Given the description of an element on the screen output the (x, y) to click on. 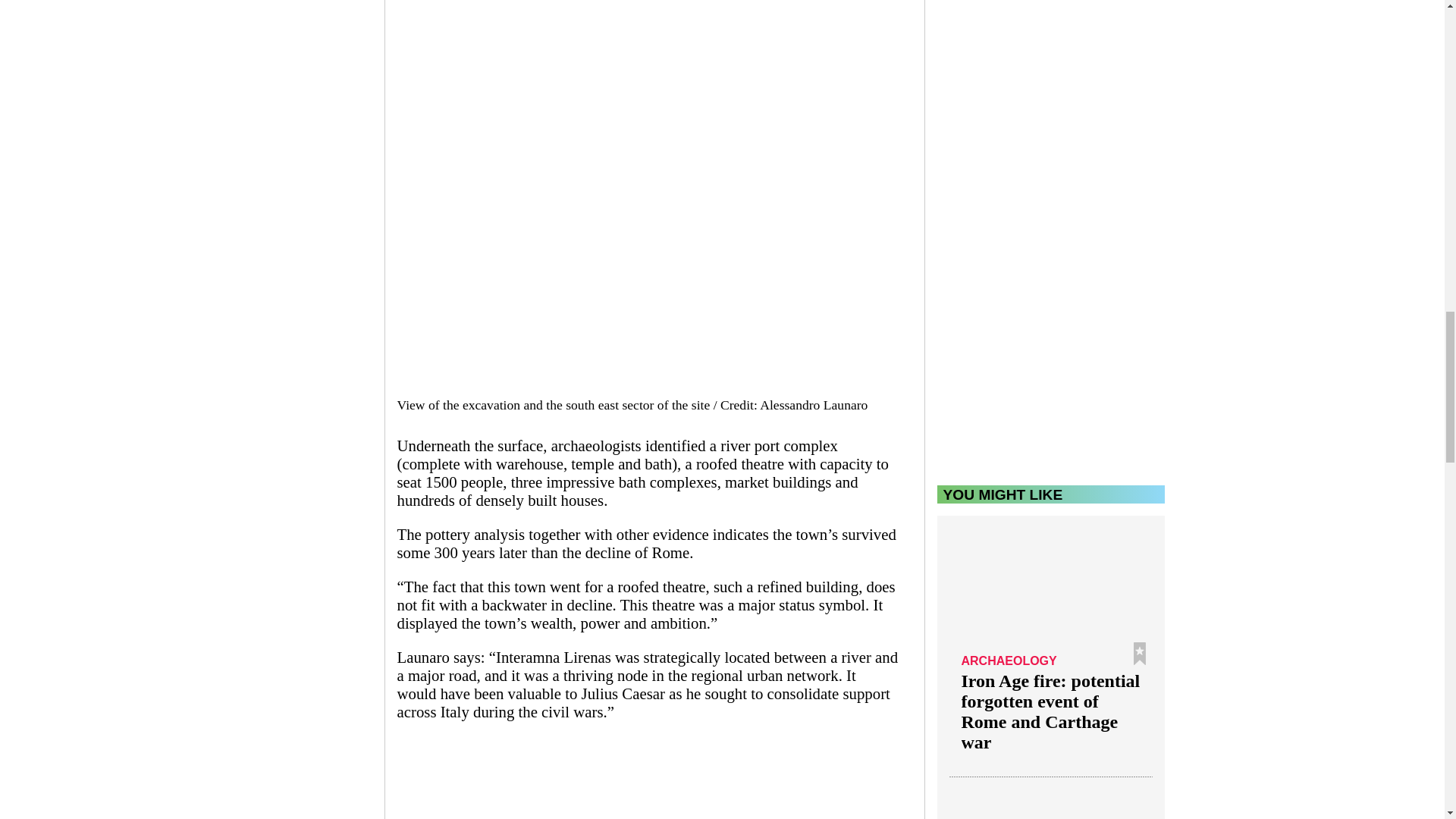
'unpromising' archaeological site rewrites roman history 4 (648, 785)
